Given the description of an element on the screen output the (x, y) to click on. 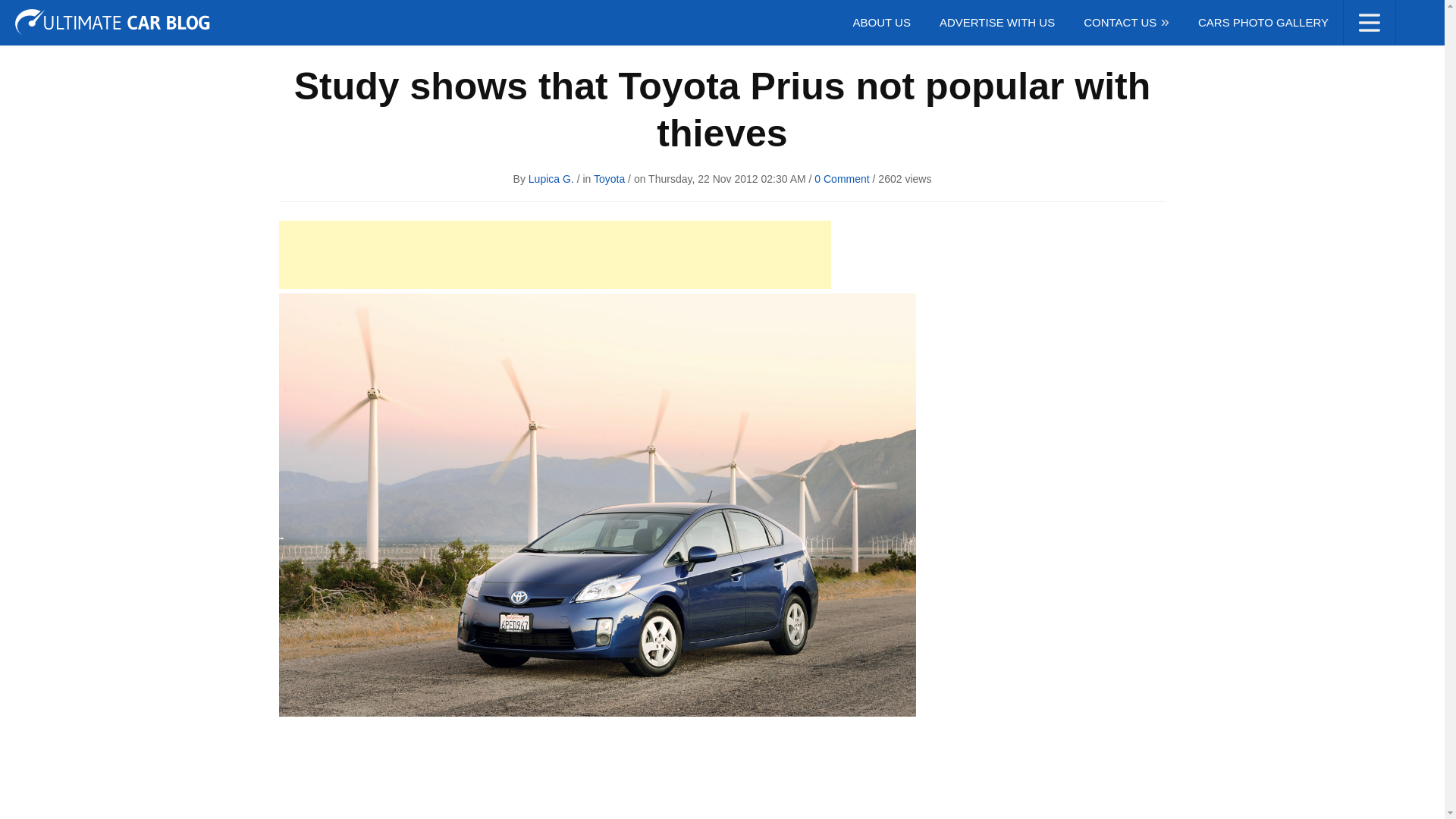
Electric (266, 16)
gplus (1418, 16)
youtube (1334, 16)
ABOUT US (881, 22)
Twitter (1306, 16)
CARS PHOTO GALLERY (1262, 22)
 View all posts by Lupica G. (550, 178)
Spy Photos (343, 16)
Toyota (609, 178)
pinterest (1389, 16)
Auto Shows (114, 16)
CONTACT US (1125, 22)
0 Comment (841, 178)
instagram (1362, 16)
ADVERTISE WITH US (996, 22)
